Given the description of an element on the screen output the (x, y) to click on. 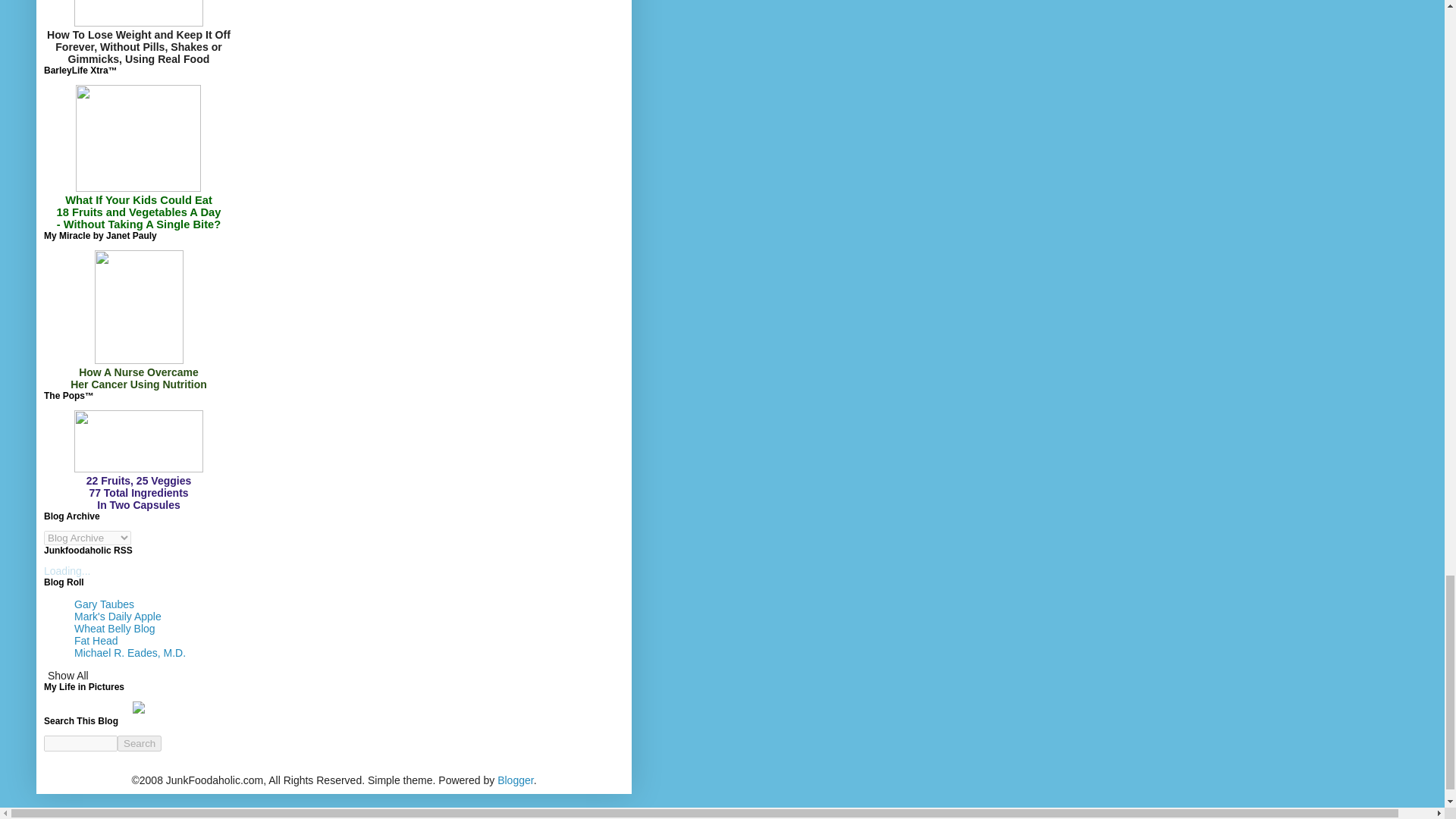
Search (139, 742)
Search (139, 742)
